Given the description of an element on the screen output the (x, y) to click on. 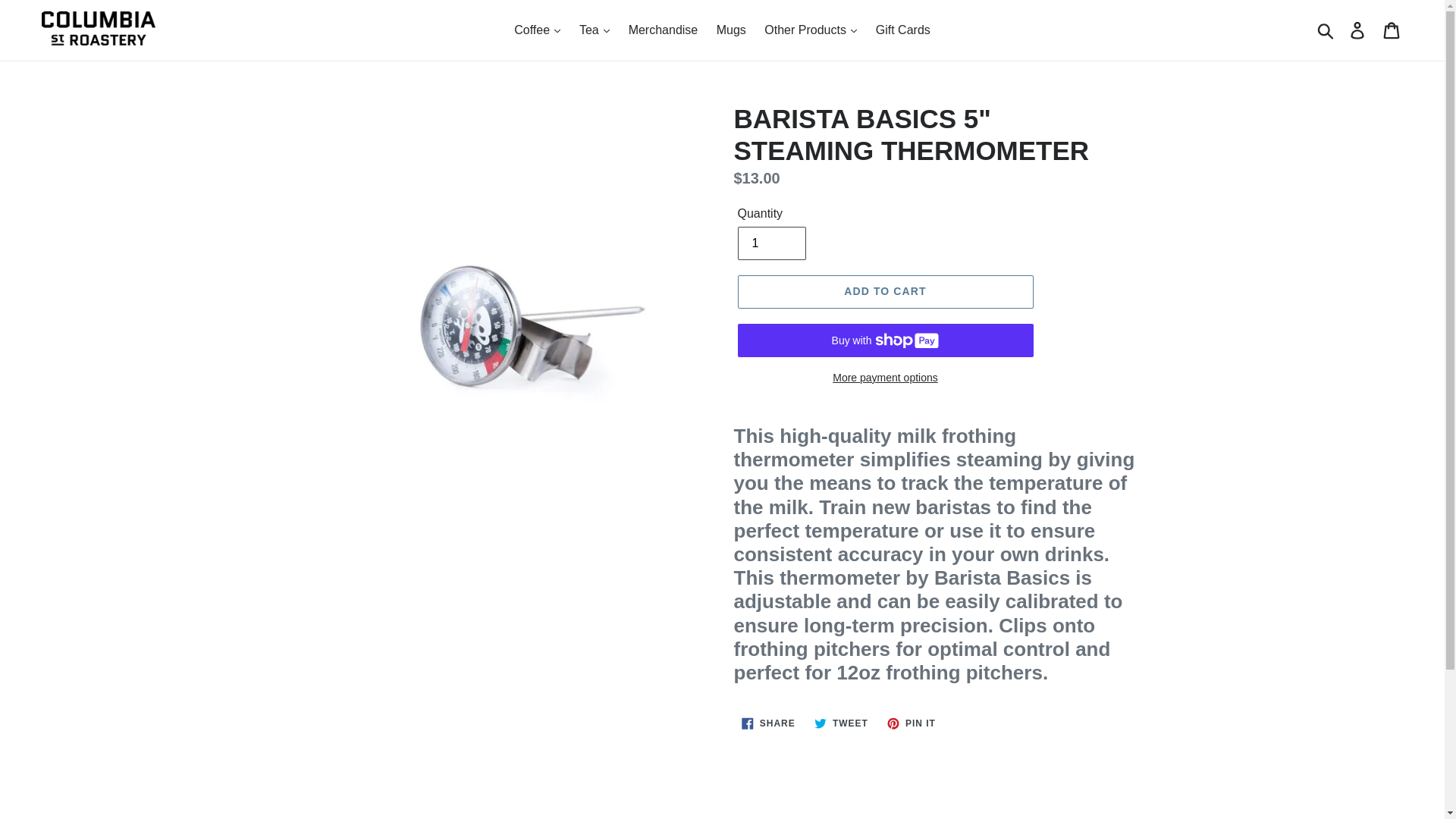
1 (770, 243)
Merchandise (663, 29)
Gift Cards (902, 29)
Log in (1357, 29)
Cart (1392, 29)
Mugs (731, 29)
Submit (1326, 29)
